Given the description of an element on the screen output the (x, y) to click on. 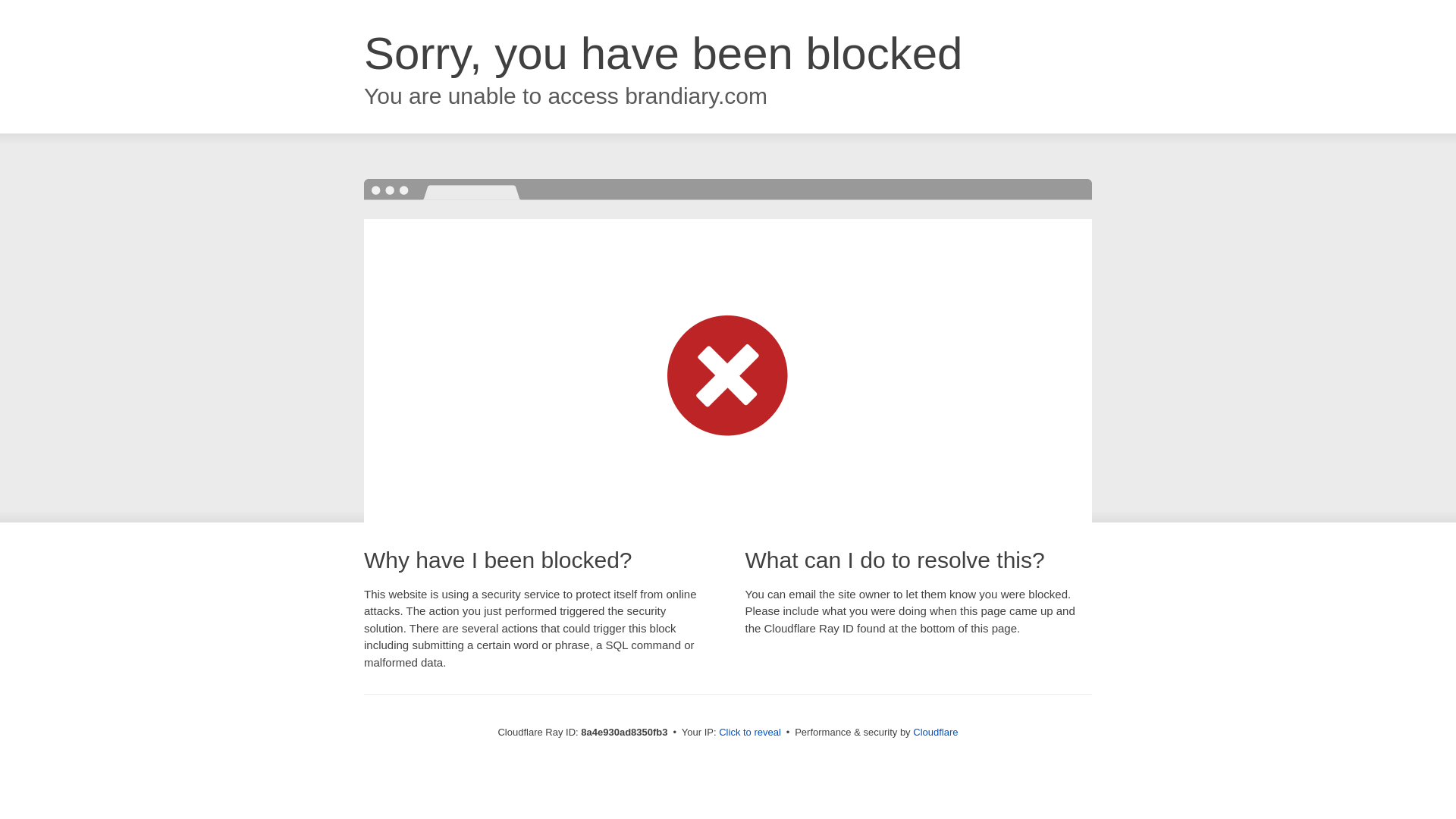
Cloudflare (935, 731)
Click to reveal (749, 732)
